Given the description of an element on the screen output the (x, y) to click on. 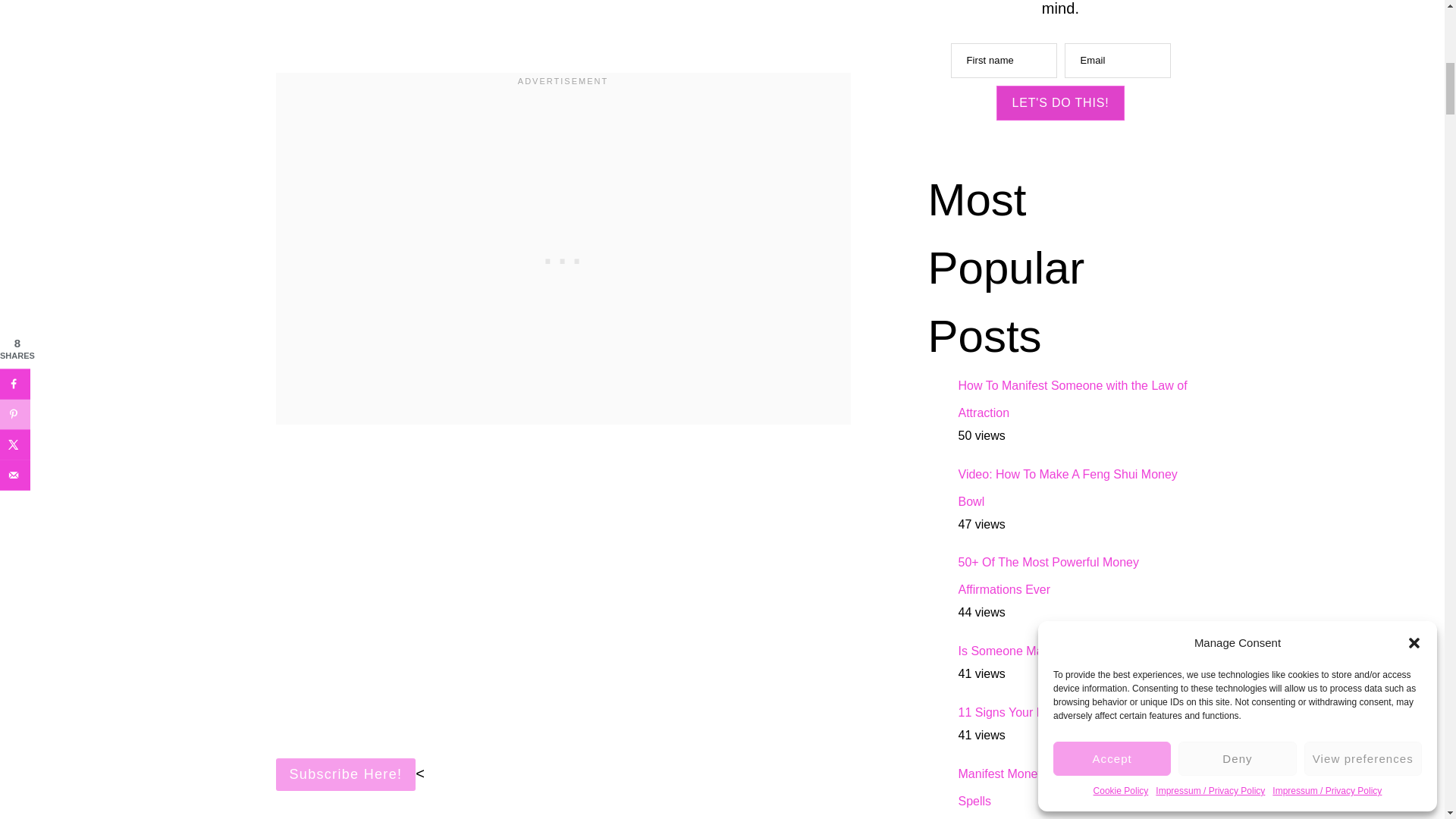
Subscribe Here! (346, 774)
Subscribe Here! (346, 773)
